Given the description of an element on the screen output the (x, y) to click on. 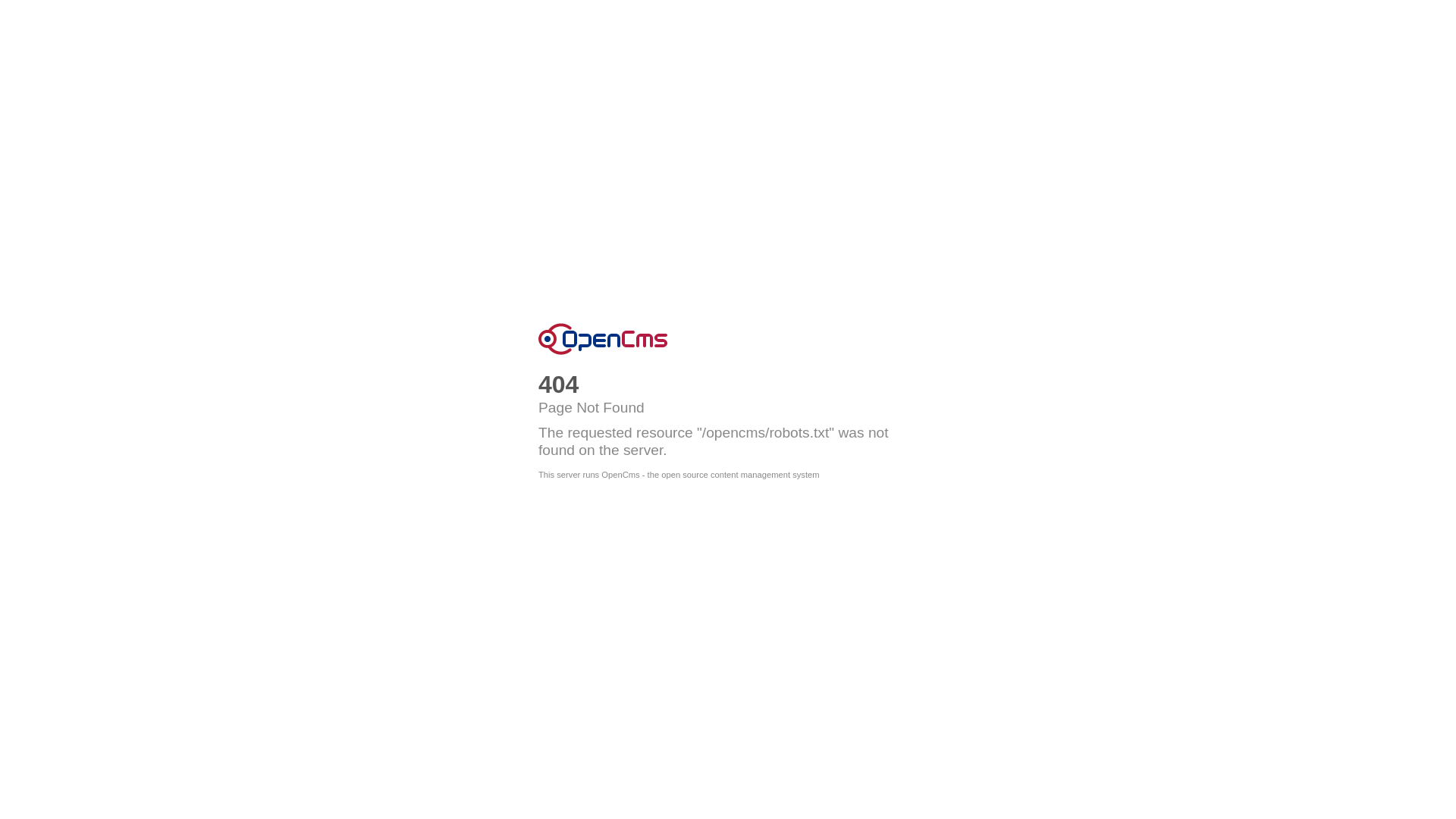
OpenCms Element type: text (602, 338)
